Given the description of an element on the screen output the (x, y) to click on. 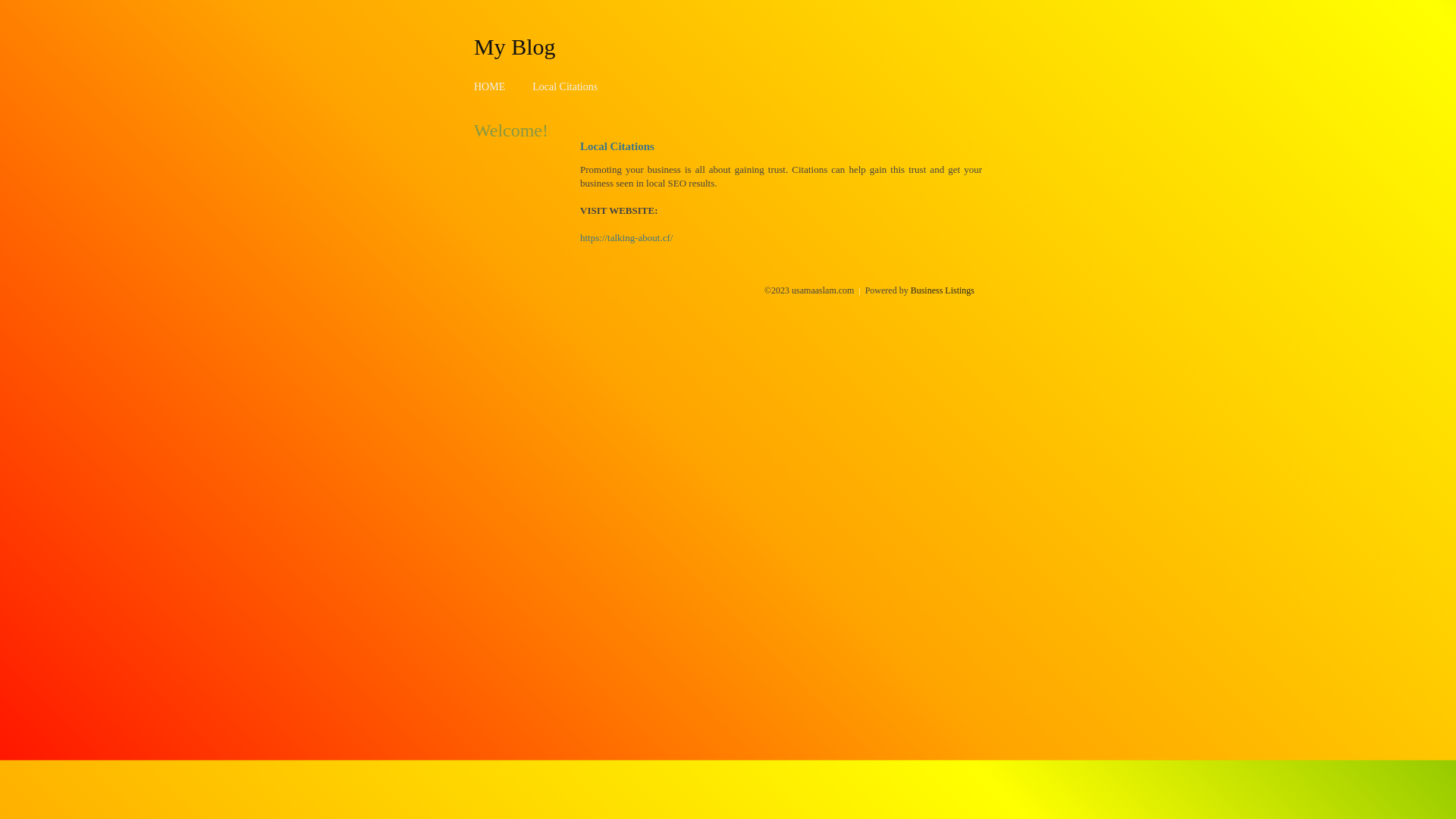
My Blog Element type: text (514, 46)
HOME Element type: text (489, 86)
https://talking-about.cf/ Element type: text (626, 237)
Local Citations Element type: text (564, 86)
Business Listings Element type: text (942, 290)
